Given the description of an element on the screen output the (x, y) to click on. 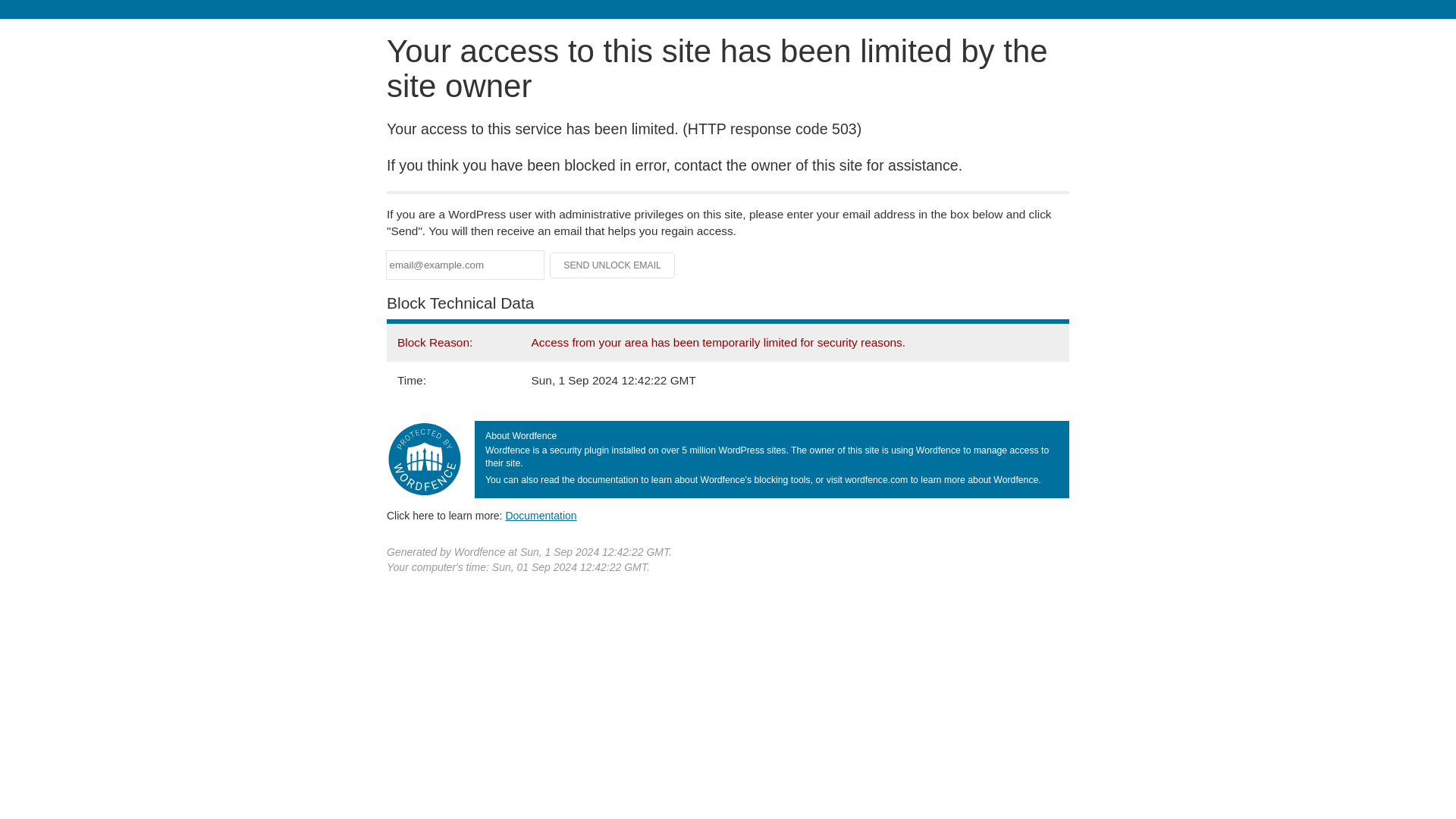
Documentation (540, 515)
Send Unlock Email (612, 265)
Send Unlock Email (612, 265)
